Given the description of an element on the screen output the (x, y) to click on. 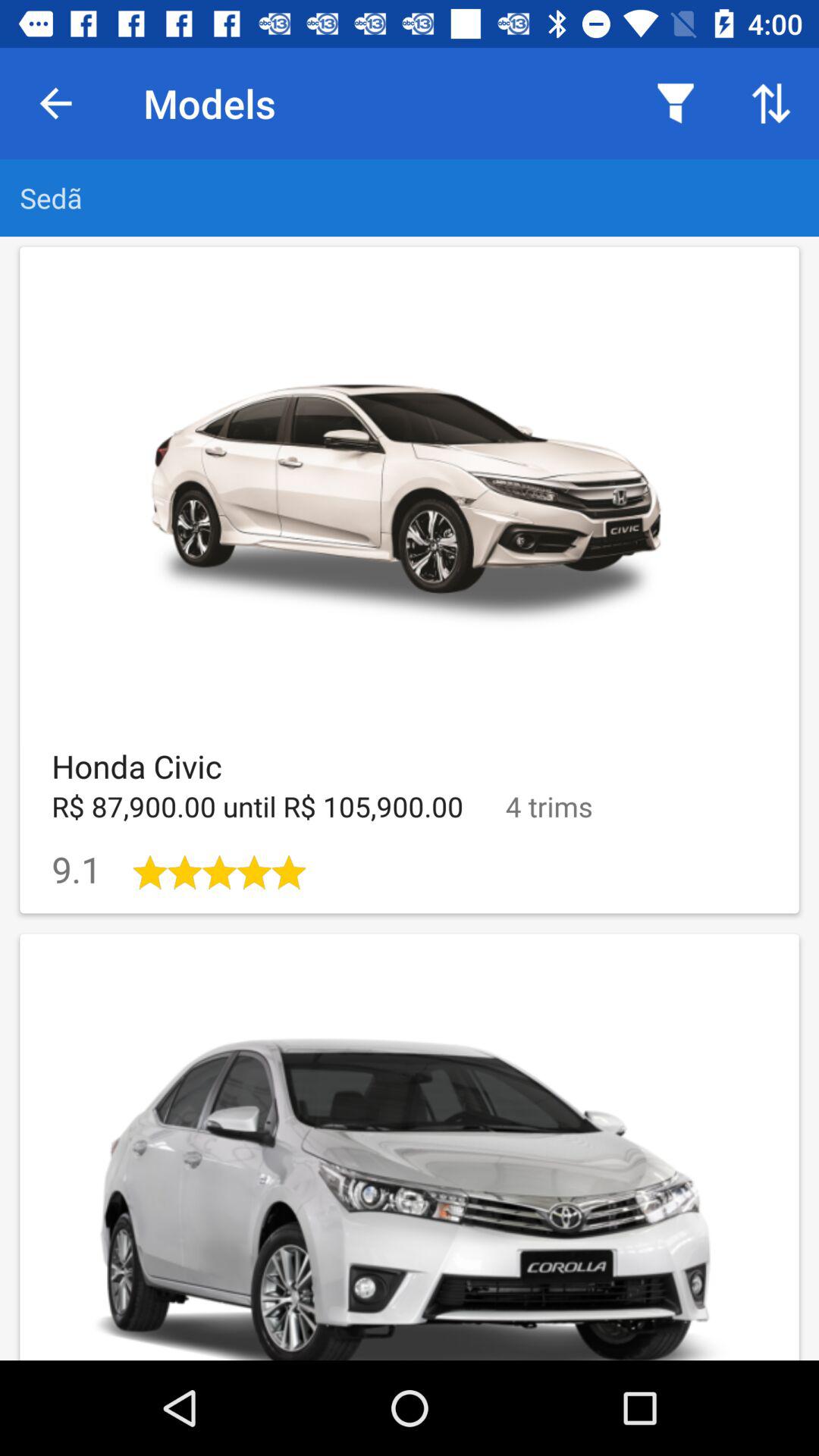
launch the icon next to the models item (55, 103)
